Given the description of an element on the screen output the (x, y) to click on. 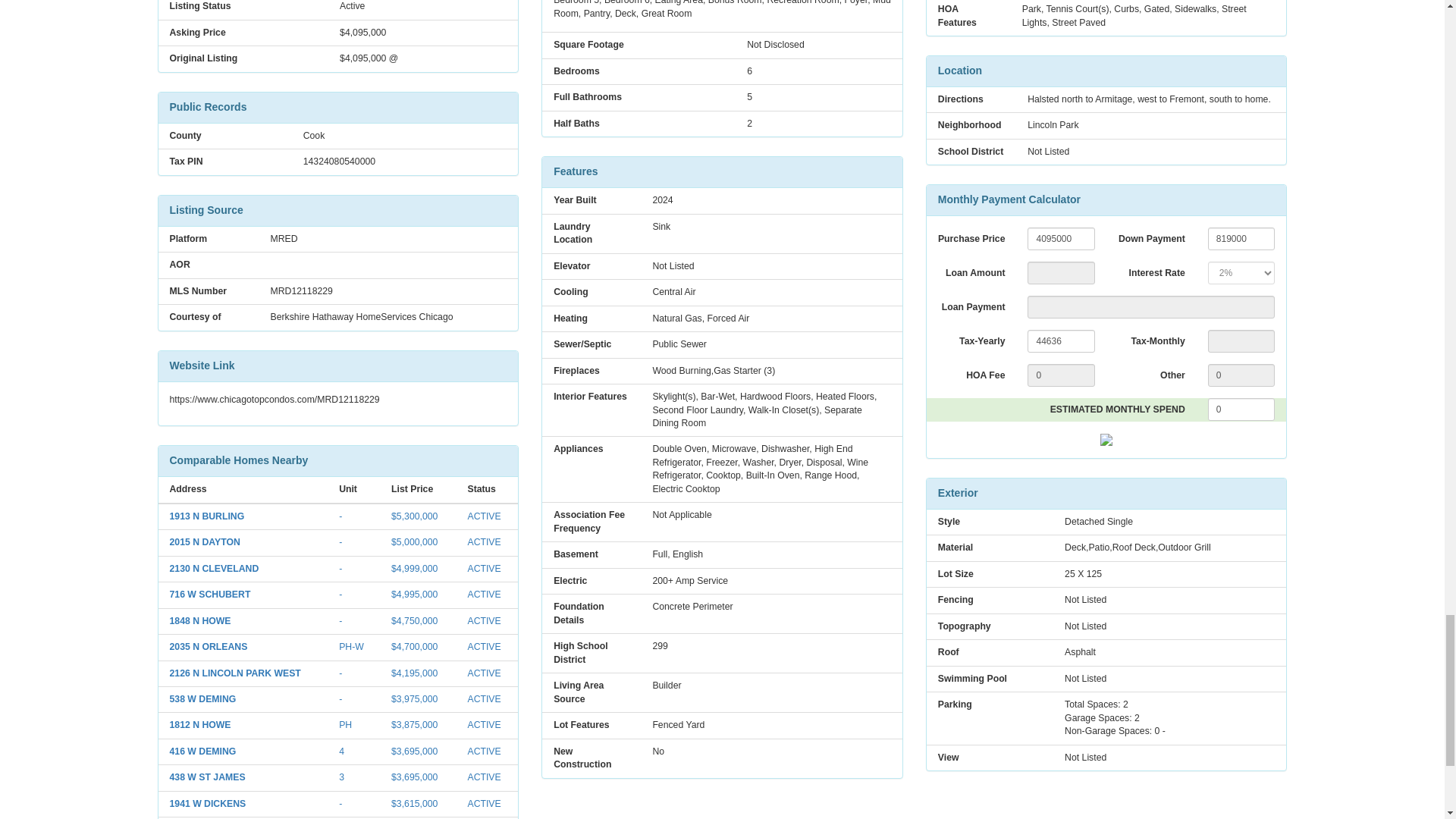
44636 (1060, 341)
4095000 (1060, 238)
0 (1241, 374)
0 (1241, 409)
819000 (1241, 238)
0 (1060, 374)
